Given the description of an element on the screen output the (x, y) to click on. 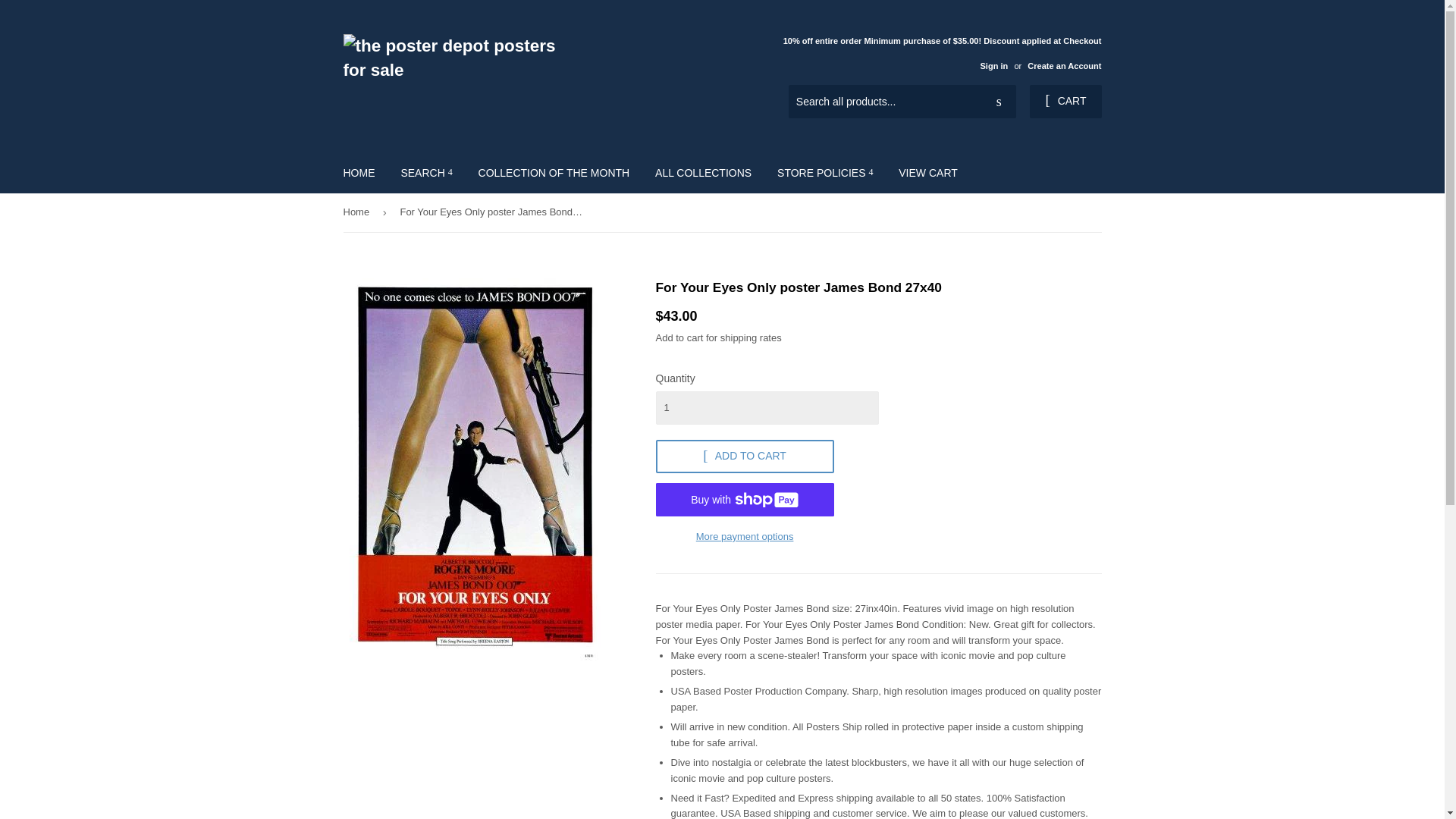
CART (1064, 101)
SEARCH (425, 172)
Sign in (993, 65)
ALL COLLECTIONS (702, 172)
HOME (359, 172)
1 (766, 408)
Search (998, 101)
STORE POLICIES (824, 172)
Create an Account (1063, 65)
COLLECTION OF THE MONTH (554, 172)
